Given the description of an element on the screen output the (x, y) to click on. 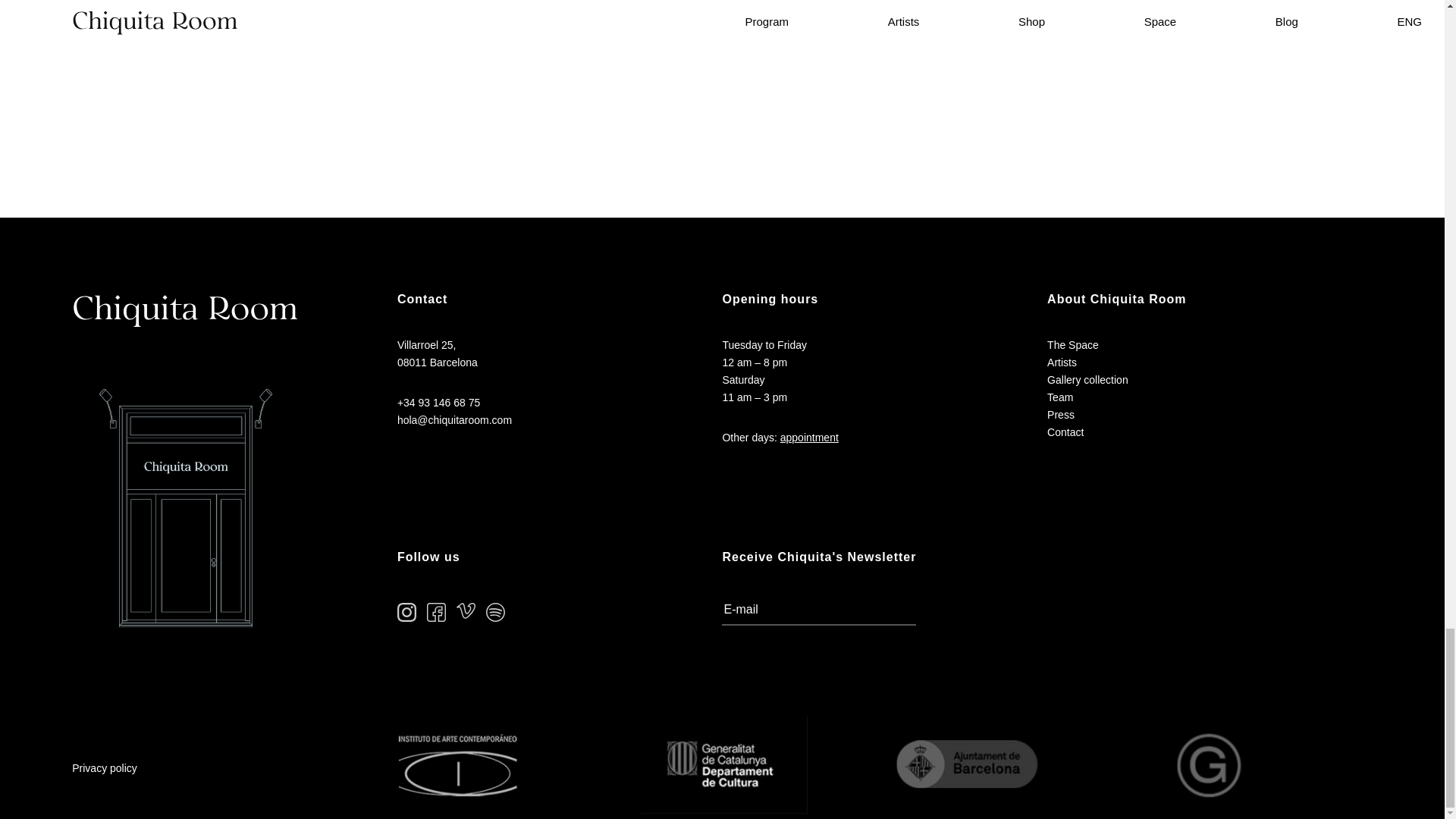
Generalitat de Catalunya Departament de Cultura (724, 765)
Press (1060, 415)
The Space (1072, 344)
Ajuntament de Barcelona (968, 765)
Gallery collection (1087, 380)
Artists (1061, 362)
Graf (1211, 765)
appointment (809, 437)
Contact (1064, 432)
Team (1059, 397)
